Given the description of an element on the screen output the (x, y) to click on. 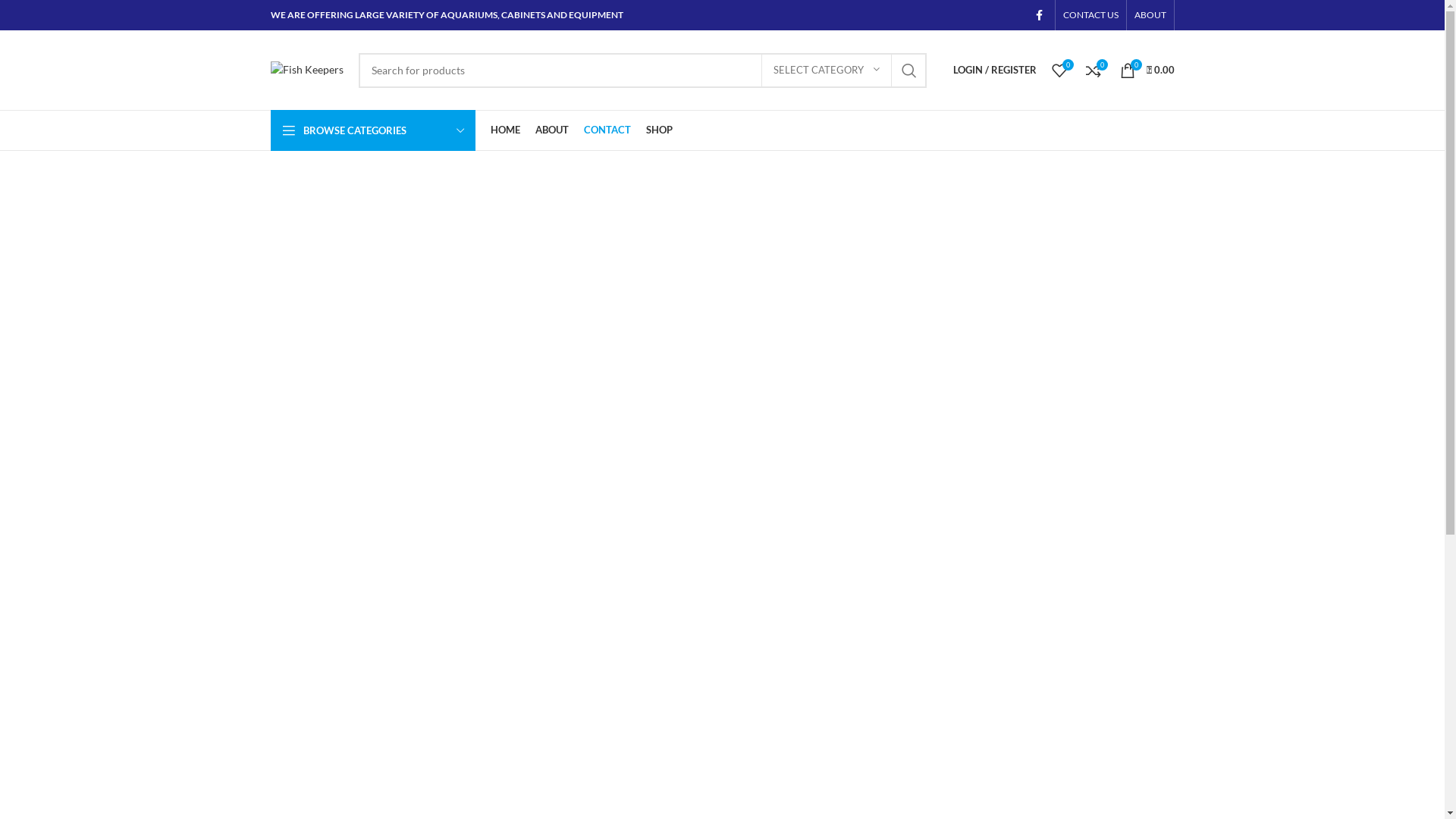
CONTACT Element type: text (606, 130)
SEARCH Element type: text (908, 70)
SHOP Element type: text (659, 130)
0 Element type: text (1093, 69)
0 Element type: text (1058, 69)
SELECT CATEGORY Element type: text (826, 70)
ABOUT Element type: text (551, 130)
ABOUT Element type: text (1150, 15)
Search for products Element type: hover (641, 70)
CONTACT US Element type: text (1090, 15)
HOME Element type: text (504, 130)
LOGIN / REGISTER Element type: text (993, 69)
